Given the description of an element on the screen output the (x, y) to click on. 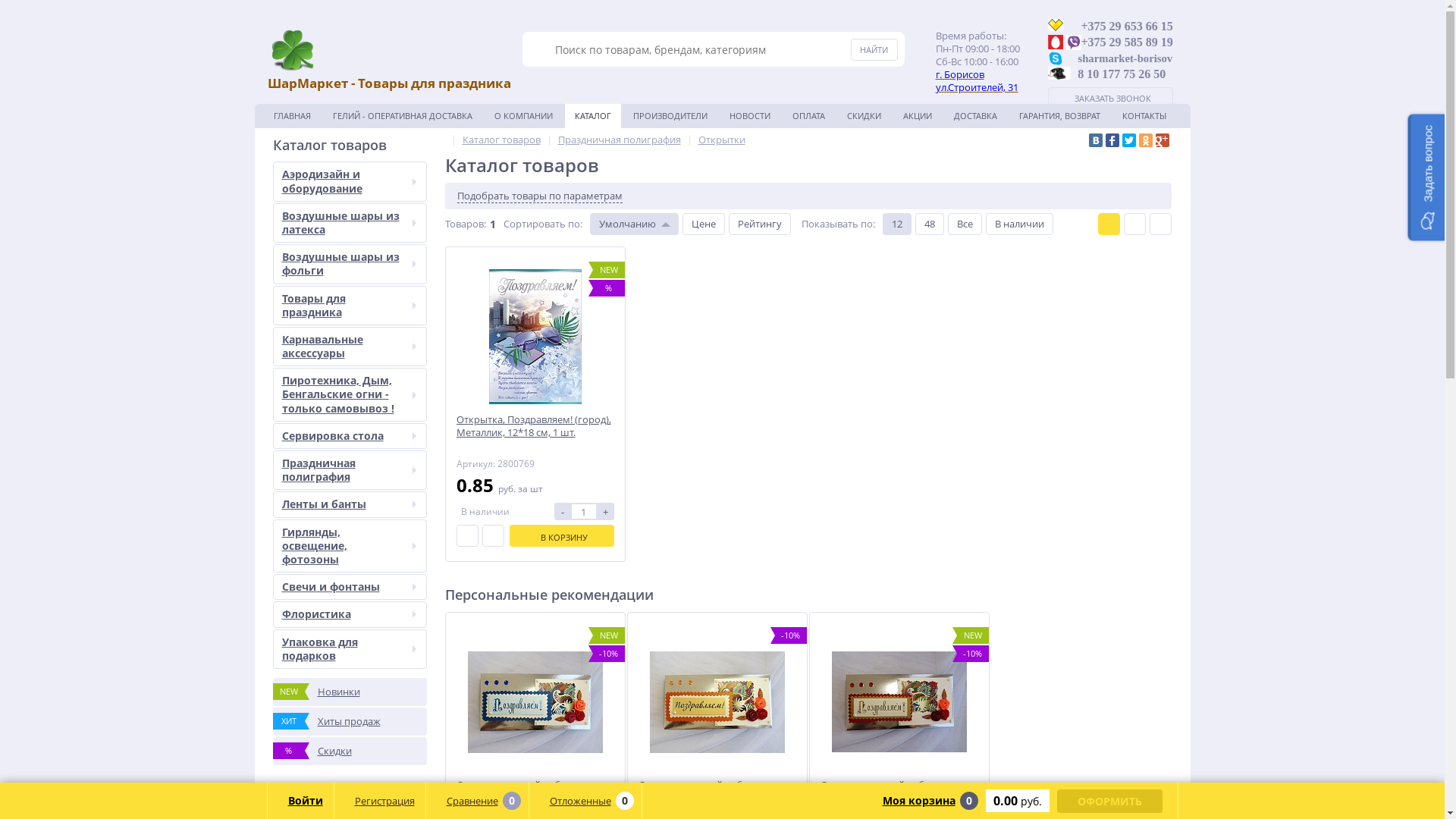
skype.png Element type: hover (1055, 58)
Facebook Element type: hover (1112, 140)
Twitter Element type: hover (1128, 140)
+ Element type: text (605, 511)
NEW
% Element type: text (535, 336)
- Element type: text (561, 511)
NEW
-10% Element type: text (899, 701)
48 Element type: text (928, 224)
12 Element type: text (896, 224)
NEW
-10% Element type: text (535, 701)
maxresdefault.jpg Element type: hover (1059, 72)
stpatrick01.png Element type: hover (290, 49)
viber.jpeg Element type: hover (1073, 42)
velcom.jpg Element type: hover (1055, 24)
Google Plus Element type: hover (1162, 140)
mts.jpg Element type: hover (1055, 41)
-10% Element type: text (717, 701)
